Given the description of an element on the screen output the (x, y) to click on. 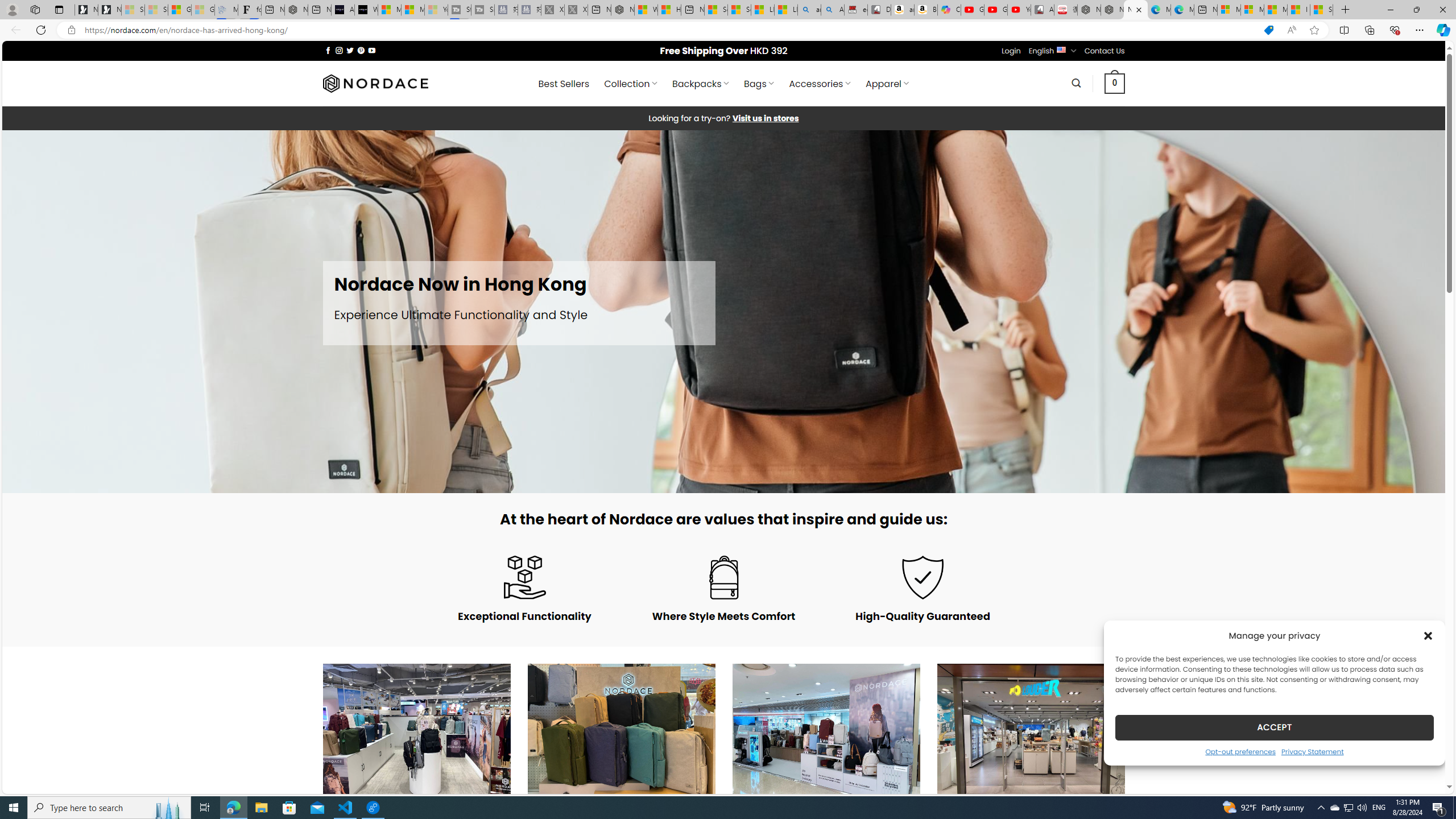
Amazon Echo Dot PNG - Search Images (832, 9)
amazon.in/dp/B0CX59H5W7/?tag=gsmcom05-21 (902, 9)
All Cubot phones (1042, 9)
 Best Sellers (563, 83)
AI Voice Changer for PC and Mac - Voice.ai (342, 9)
Address and search bar (669, 29)
